Given the description of an element on the screen output the (x, y) to click on. 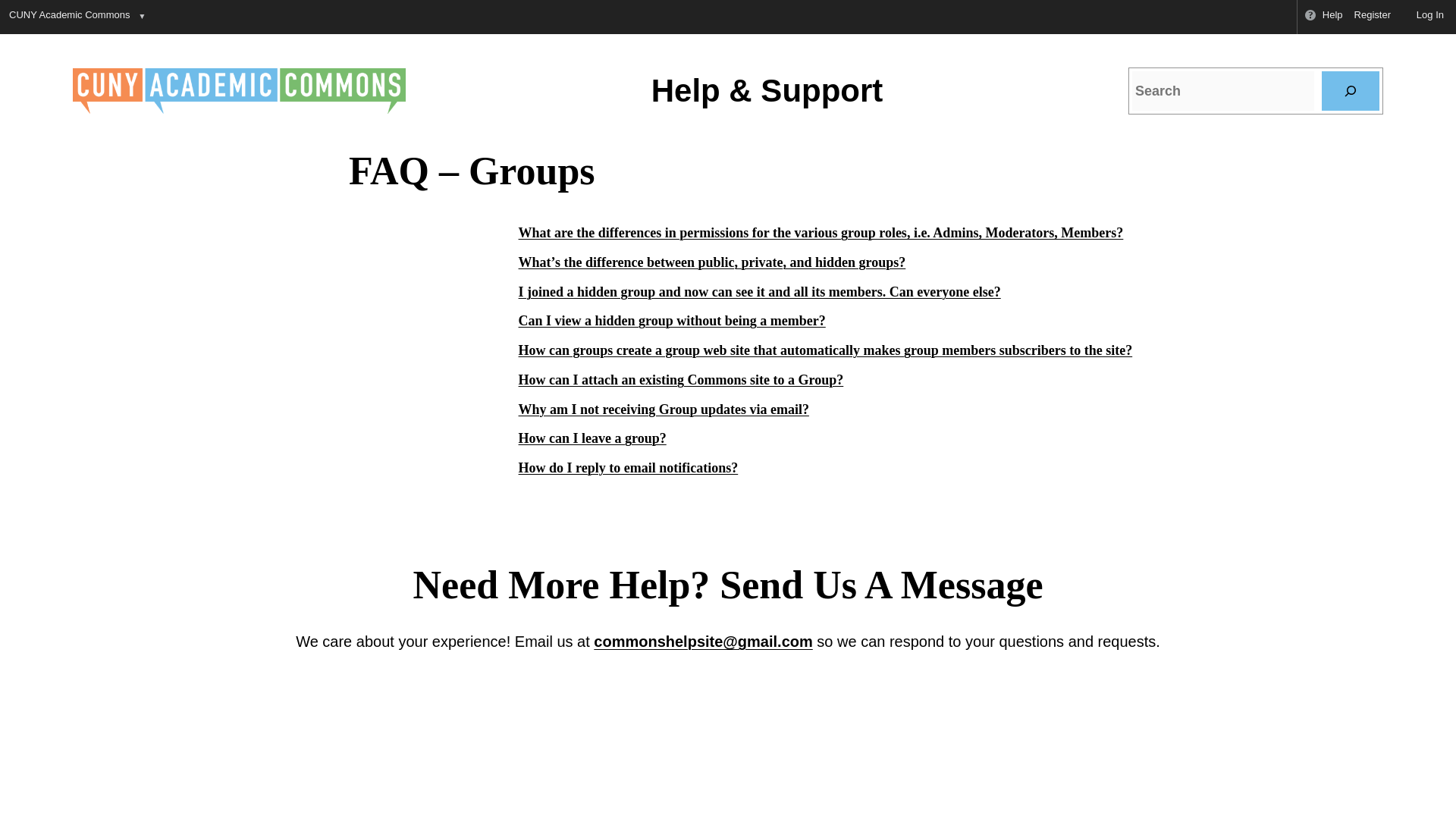
Register (1372, 17)
Help (1323, 17)
CUNY Academic Commons (68, 17)
How do I reply to email notifications? (628, 467)
How can I attach an existing Commons site to a Group? (681, 379)
Why am I not receiving Group updates via email? (663, 409)
Log In (1423, 17)
How can I leave a group? (592, 437)
Can I view a hidden group without being a member? (671, 320)
